Given the description of an element on the screen output the (x, y) to click on. 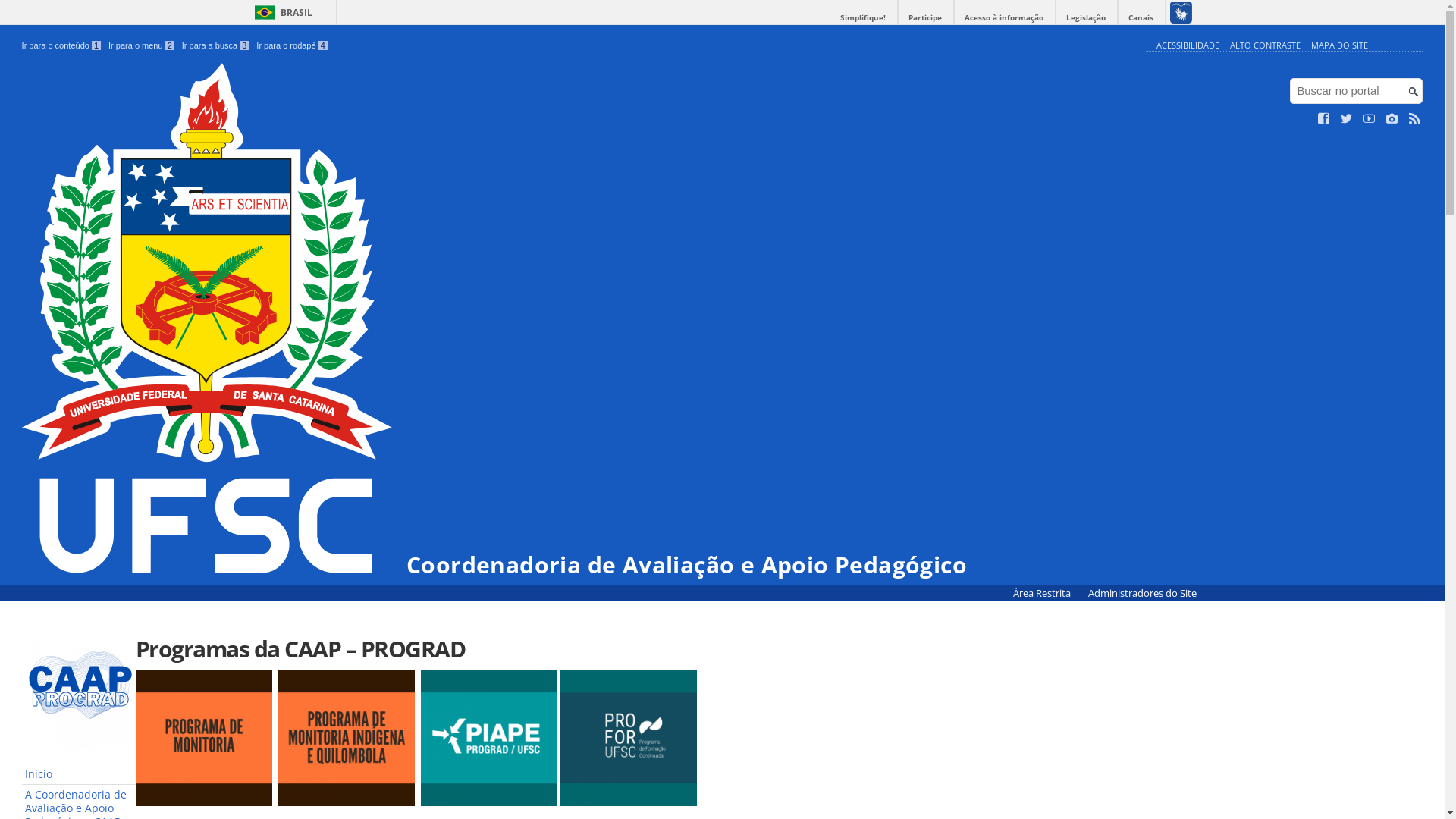
ALTO CONTRASTE Element type: text (1265, 44)
MAPA DO SITE Element type: text (1339, 44)
Ir para o menu 2 Element type: text (141, 45)
BRASIL Element type: text (280, 12)
Curta no Facebook Element type: hover (1323, 118)
Ir para a busca 3 Element type: text (215, 45)
Canais Element type: text (1140, 18)
ACESSIBILIDADE Element type: text (1187, 44)
Simplifique! Element type: text (862, 18)
Participe Element type: text (924, 18)
Administradores do Site Element type: text (1141, 592)
Veja no Instagram Element type: hover (1392, 118)
Siga no Twitter Element type: hover (1346, 118)
